Given the description of an element on the screen output the (x, y) to click on. 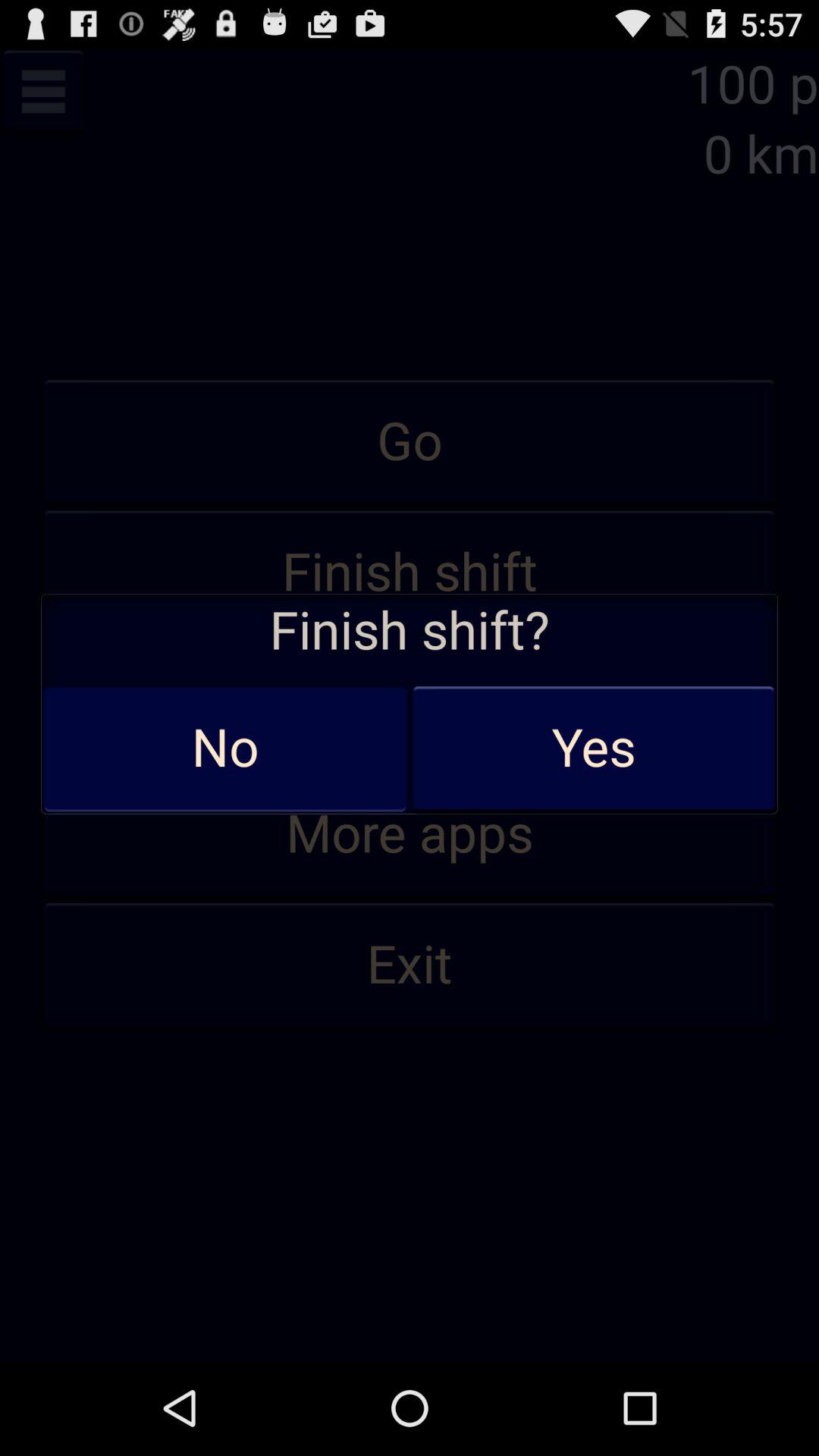
swipe to more apps app (409, 834)
